Given the description of an element on the screen output the (x, y) to click on. 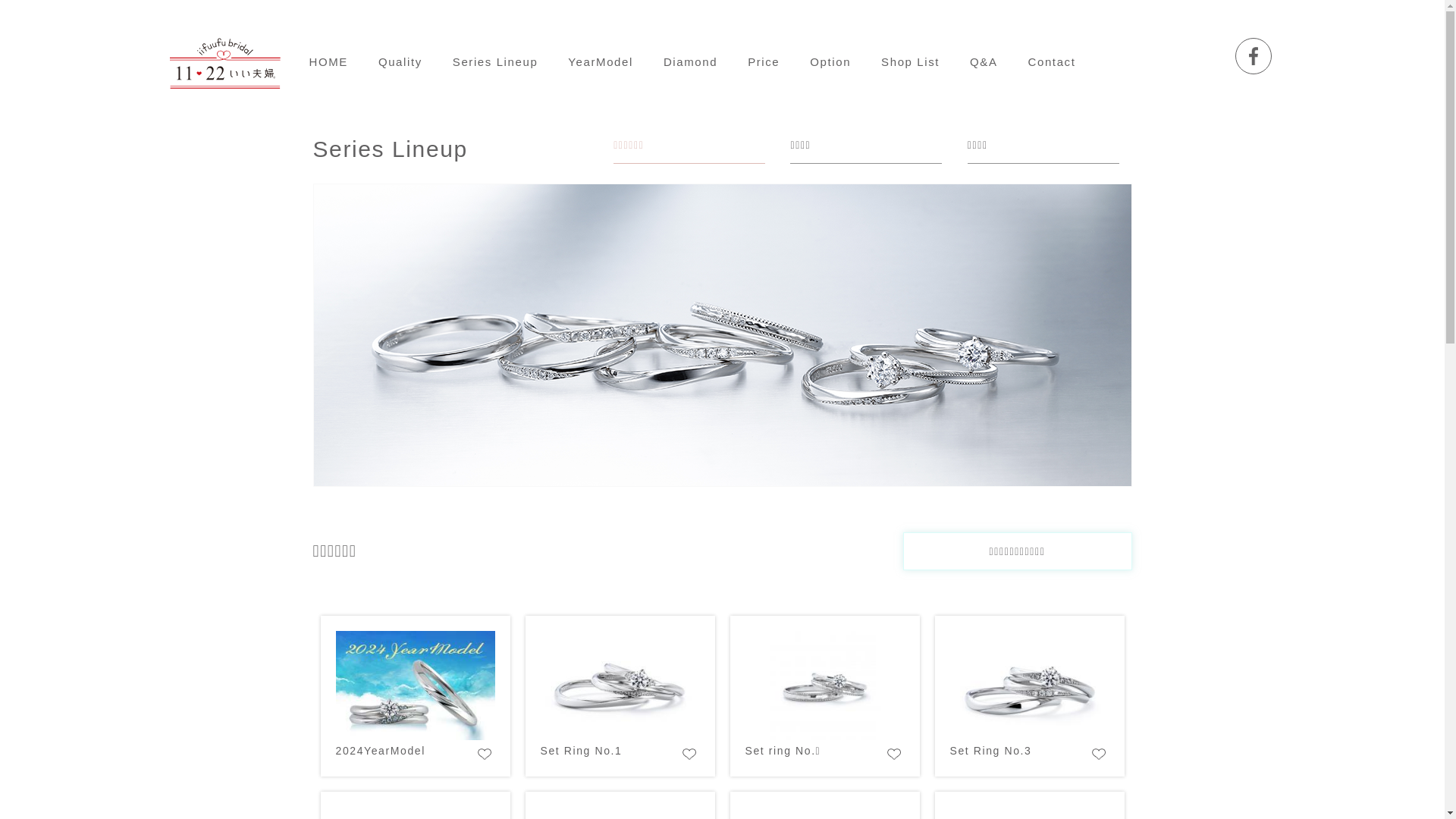
YearModel Element type: text (600, 61)
Shop List Element type: text (910, 61)
Contact Element type: text (1052, 61)
Option Element type: text (829, 61)
HOME Element type: text (328, 61)
Price Element type: text (763, 61)
Diamond Element type: text (690, 61)
Q&A Element type: text (983, 61)
Series Lineup Element type: text (495, 61)
Facebook Element type: text (1253, 55)
Quality Element type: text (400, 61)
